Given the description of an element on the screen output the (x, y) to click on. 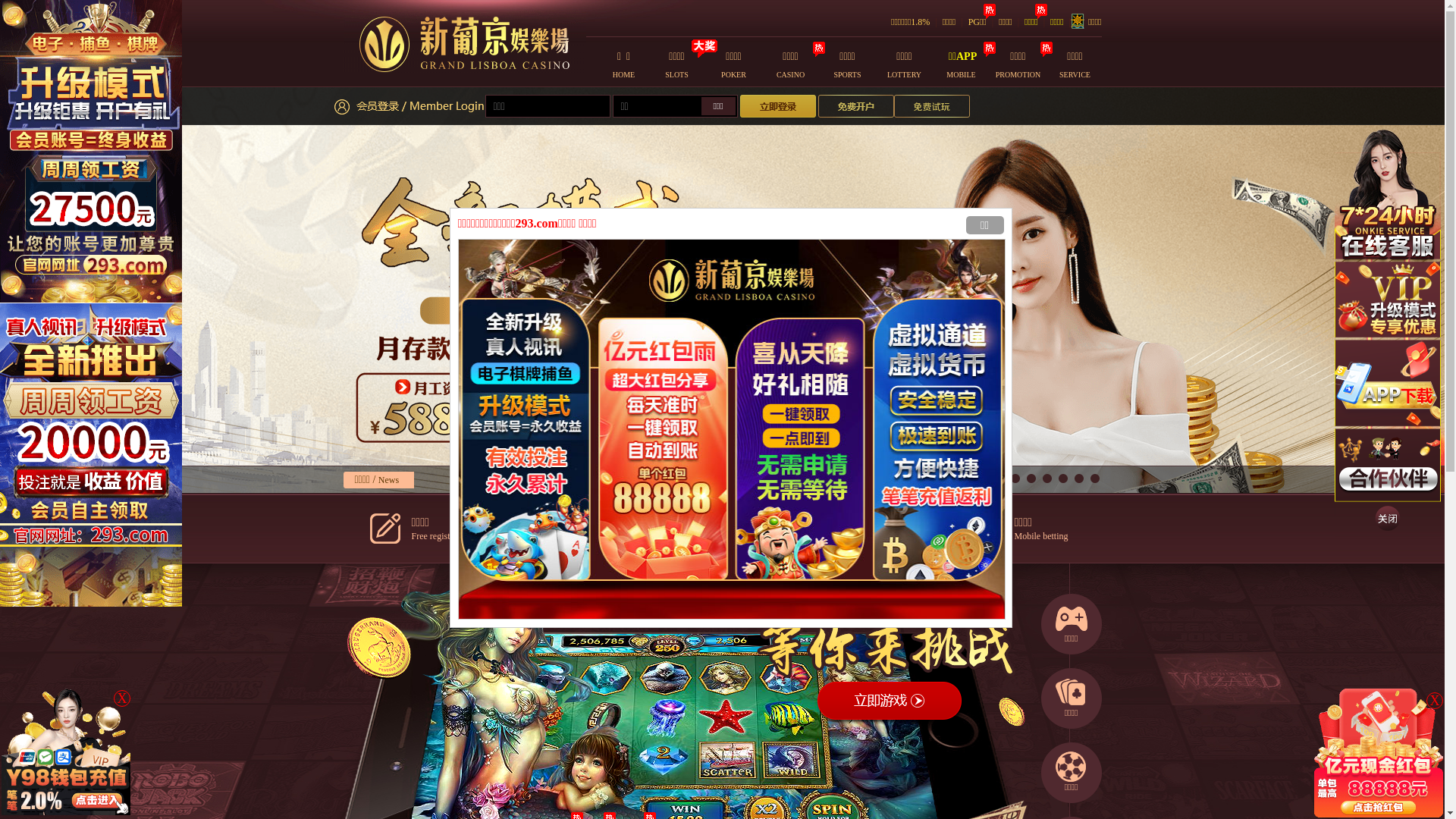
X Element type: text (121, 698)
X Element type: text (1434, 700)
